Given the description of an element on the screen output the (x, y) to click on. 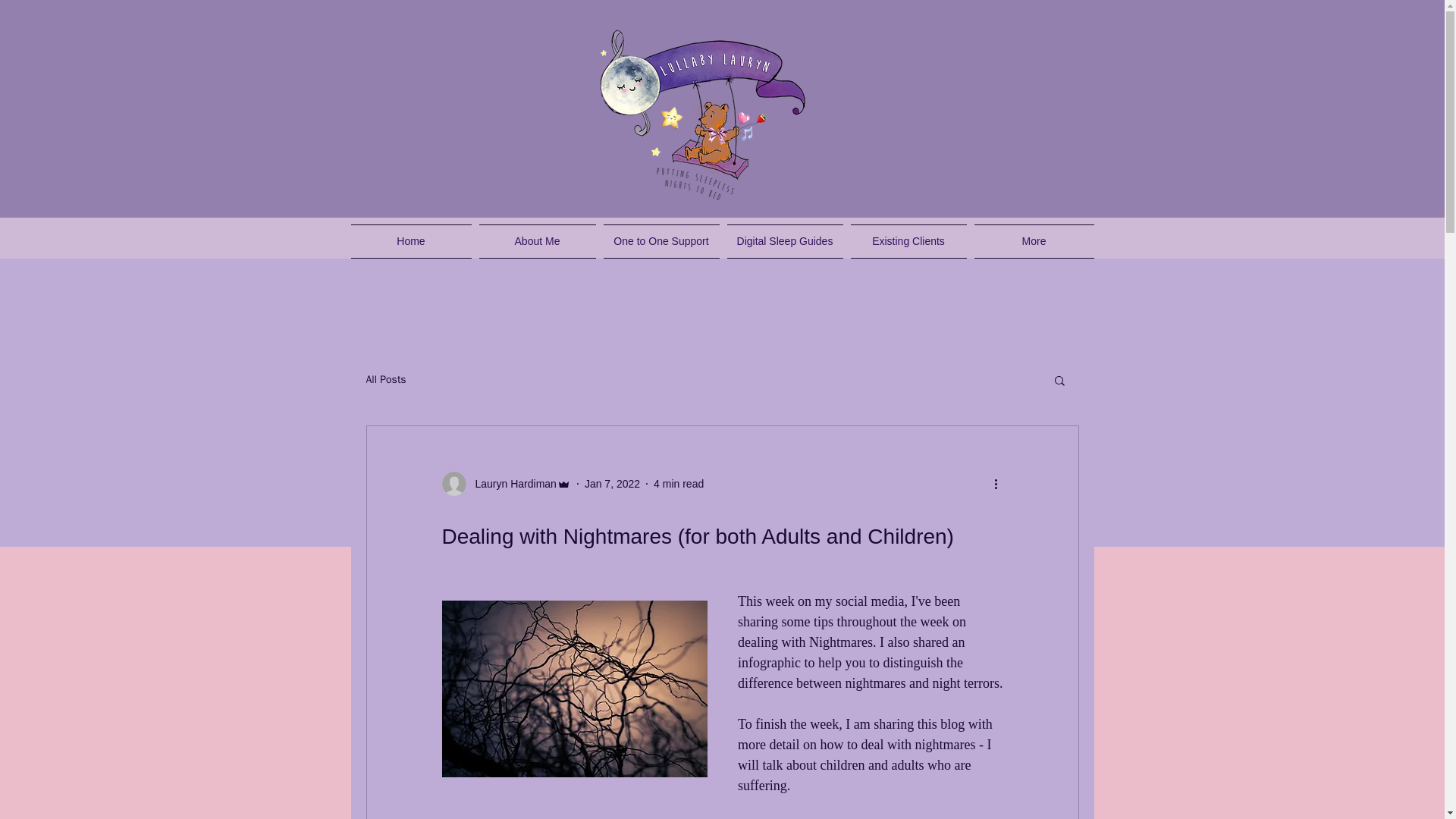
Lauryn Hardiman (505, 483)
Existing Clients (907, 241)
Lauryn Hardiman (510, 483)
All Posts (385, 379)
4 min read (678, 483)
Digital Sleep Guides (785, 241)
Home (412, 241)
Jan 7, 2022 (612, 483)
One to One Support (660, 241)
About Me (536, 241)
